Given the description of an element on the screen output the (x, y) to click on. 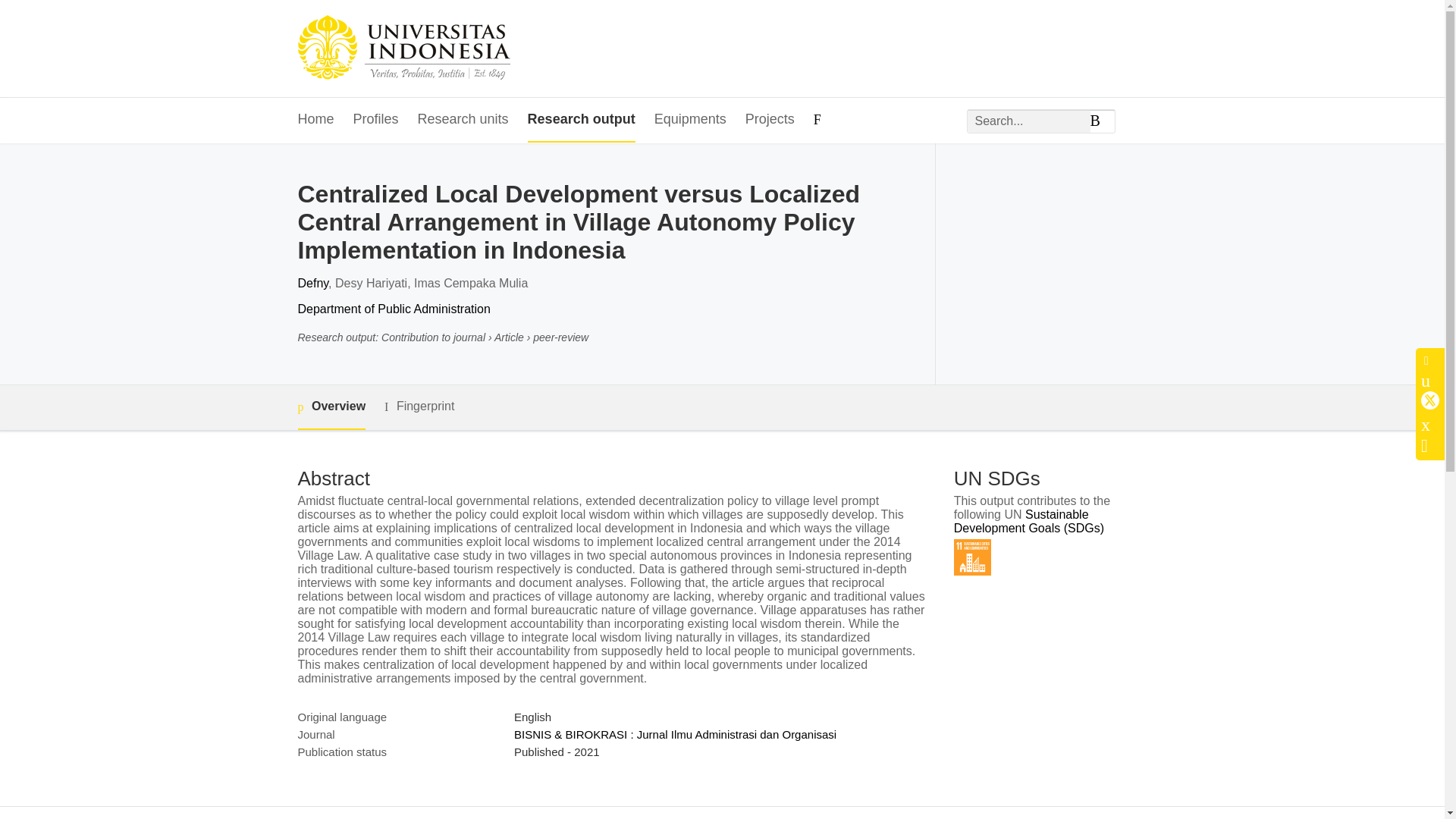
Profiles (375, 119)
Overview (331, 406)
Research output (580, 119)
Projects (769, 119)
SDG 11 - Sustainable Cities and Communities (972, 557)
Department of Public Administration (393, 308)
Universitas Indonesia Home (403, 48)
Research units (462, 119)
Defny (313, 282)
Equipments (689, 119)
Fingerprint (419, 406)
